Given the description of an element on the screen output the (x, y) to click on. 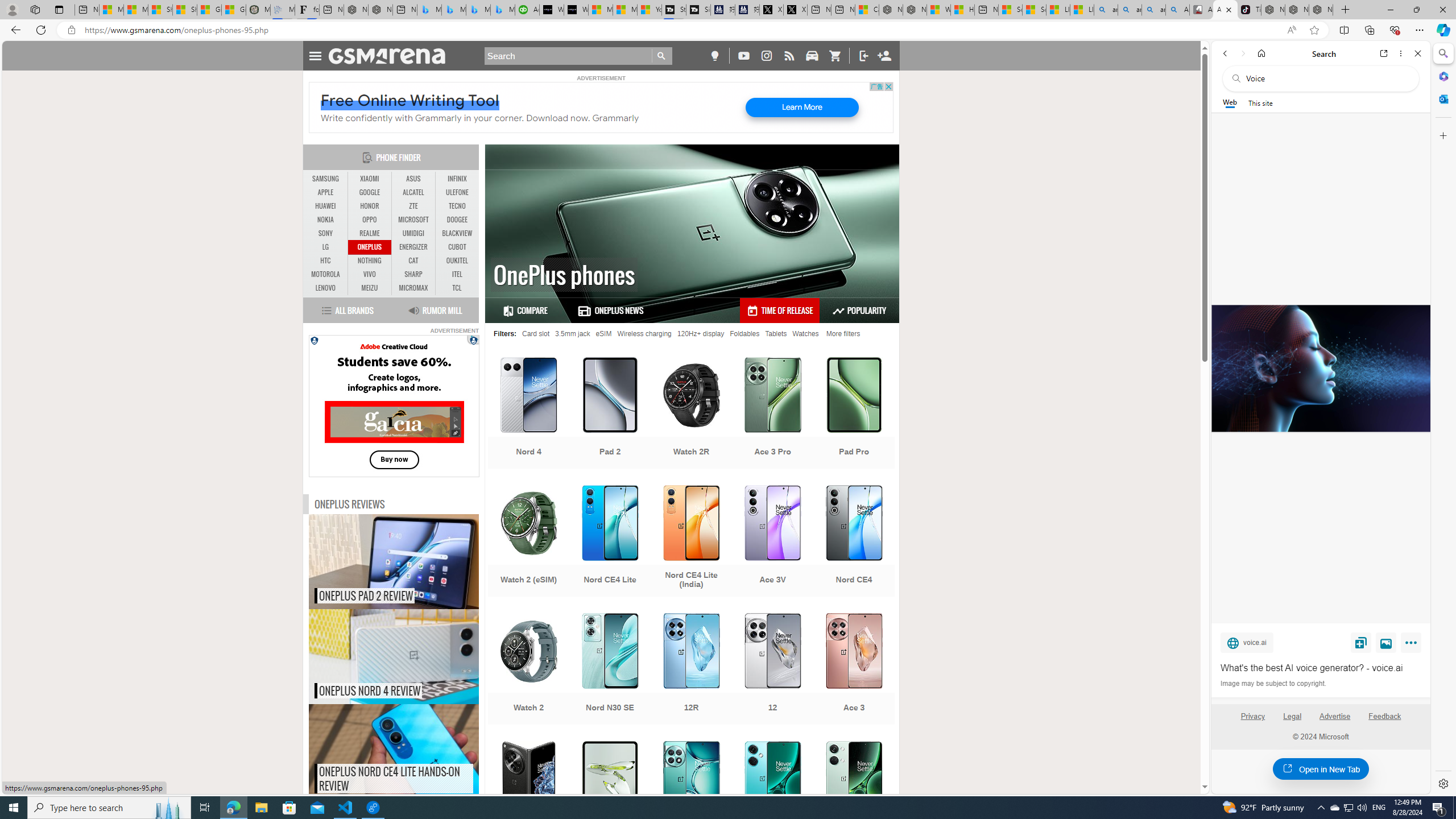
Pad Pro (853, 413)
Nord 4 (528, 413)
Pad 2 (609, 413)
CAT (413, 260)
eSIM (603, 333)
BLACKVIEW (457, 233)
CUBOT (457, 246)
Accounting Software for Accountants, CPAs and Bookkeepers (526, 9)
NOTHING (369, 260)
HUAWEI (325, 205)
Ace 3 (853, 670)
